Given the description of an element on the screen output the (x, y) to click on. 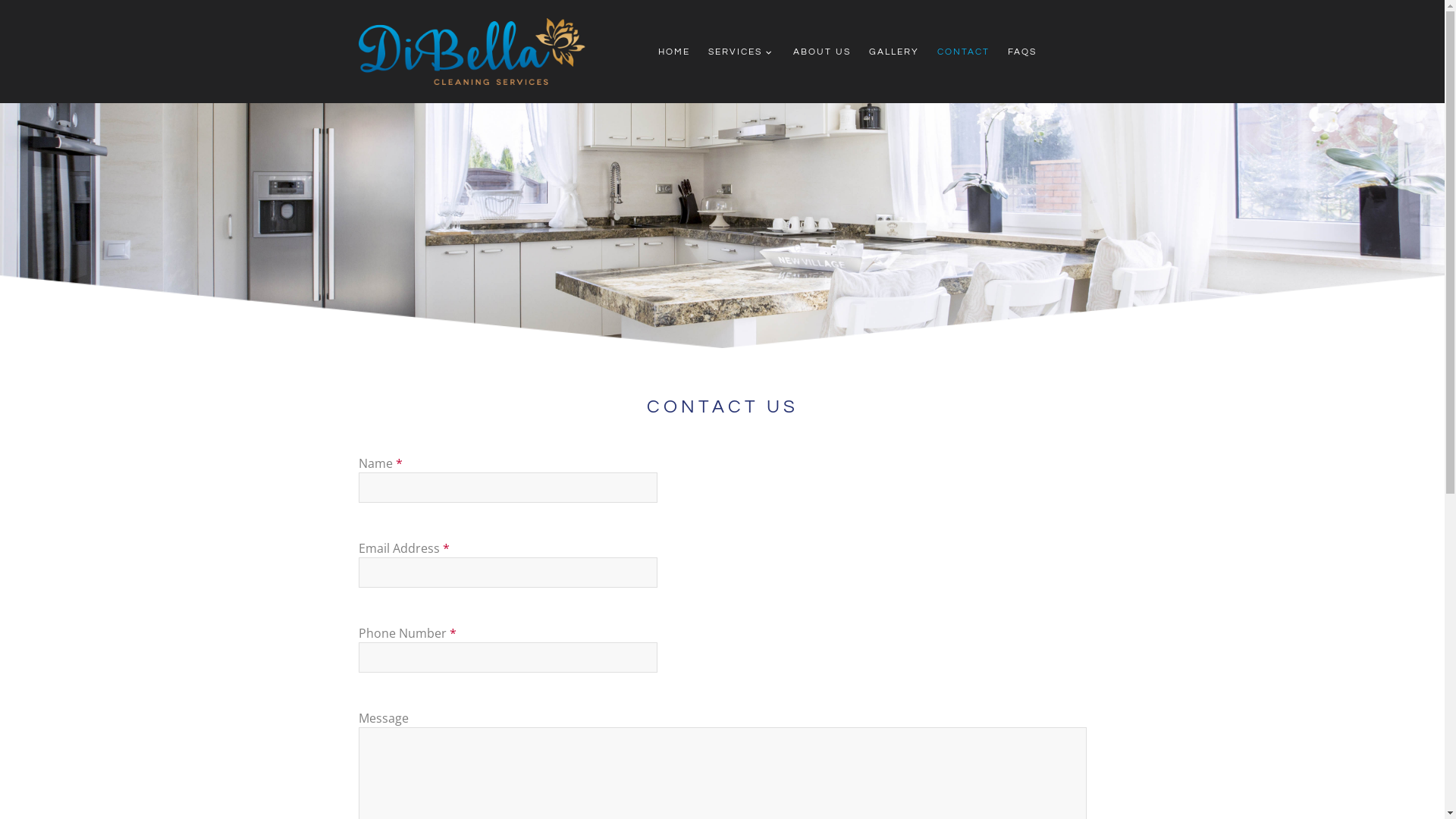
SERVICES Element type: text (741, 52)
HOME Element type: text (674, 52)
FAQS Element type: text (1021, 52)
Return to homepage Element type: hover (471, 51)
CONTACT Element type: text (963, 52)
ABOUT US Element type: text (821, 52)
GALLERY Element type: text (893, 52)
